Given the description of an element on the screen output the (x, y) to click on. 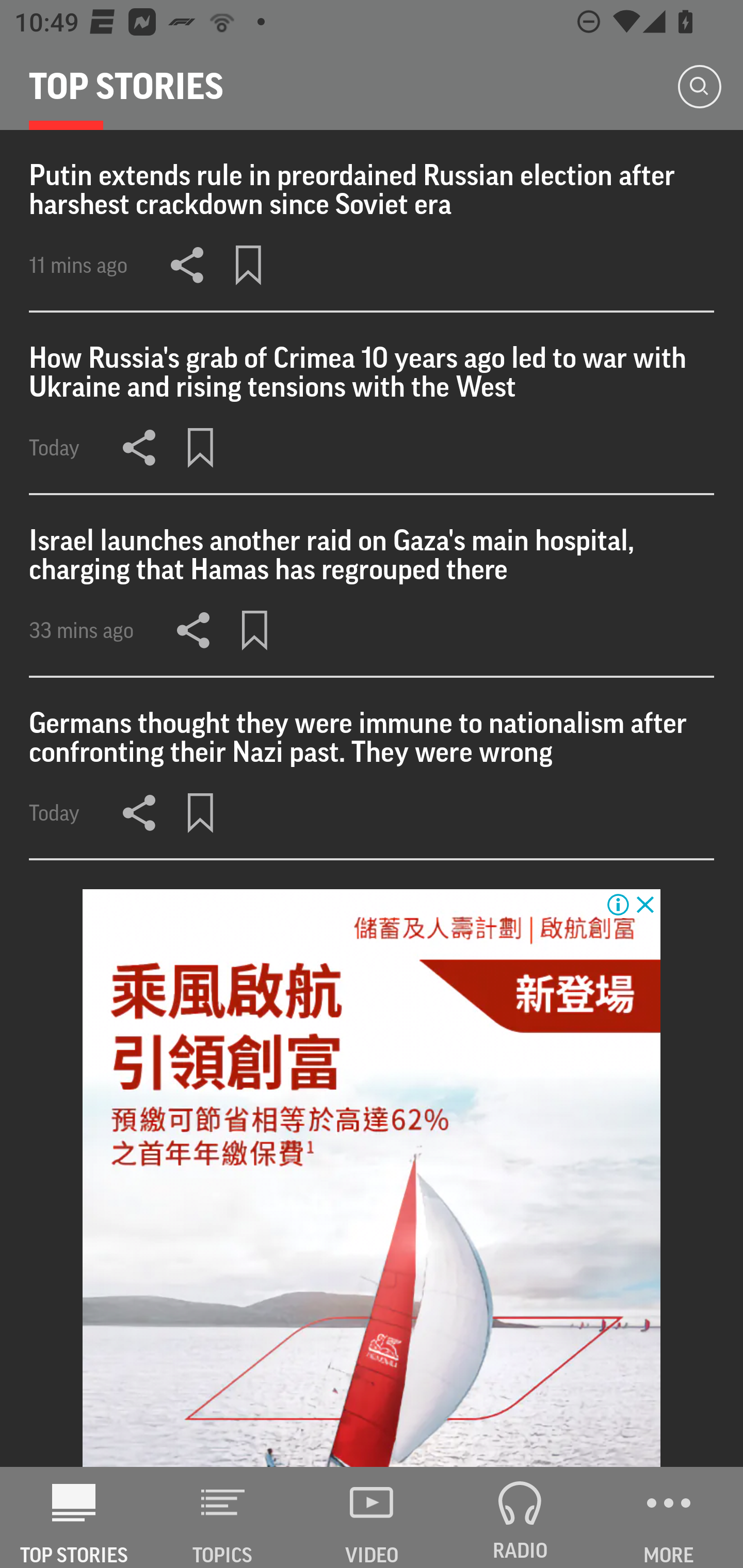
AP News TOP STORIES (74, 1517)
TOPICS (222, 1517)
VIDEO (371, 1517)
RADIO (519, 1517)
MORE (668, 1517)
